Given the description of an element on the screen output the (x, y) to click on. 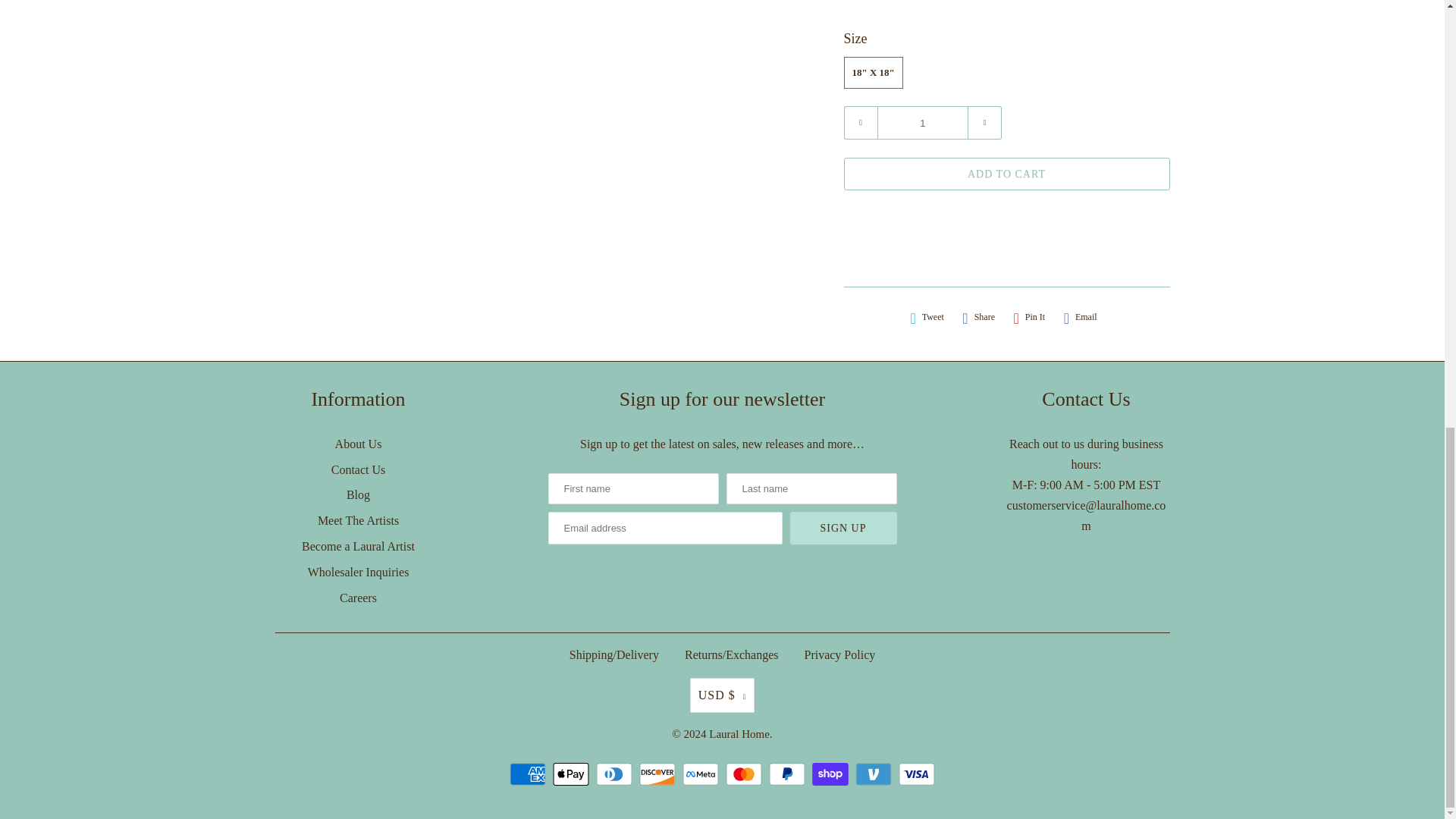
Discover (659, 773)
American Express (529, 773)
Share this on Pinterest (1029, 317)
Share this on Facebook (978, 317)
Venmo (875, 773)
Share this on Twitter (926, 317)
Email this to a friend (1080, 317)
Diners Club (615, 773)
1 (922, 122)
Mastercard (745, 773)
Visa (916, 773)
Sign Up (843, 527)
Meta Pay (702, 773)
Apple Pay (572, 773)
PayPal (788, 773)
